Given the description of an element on the screen output the (x, y) to click on. 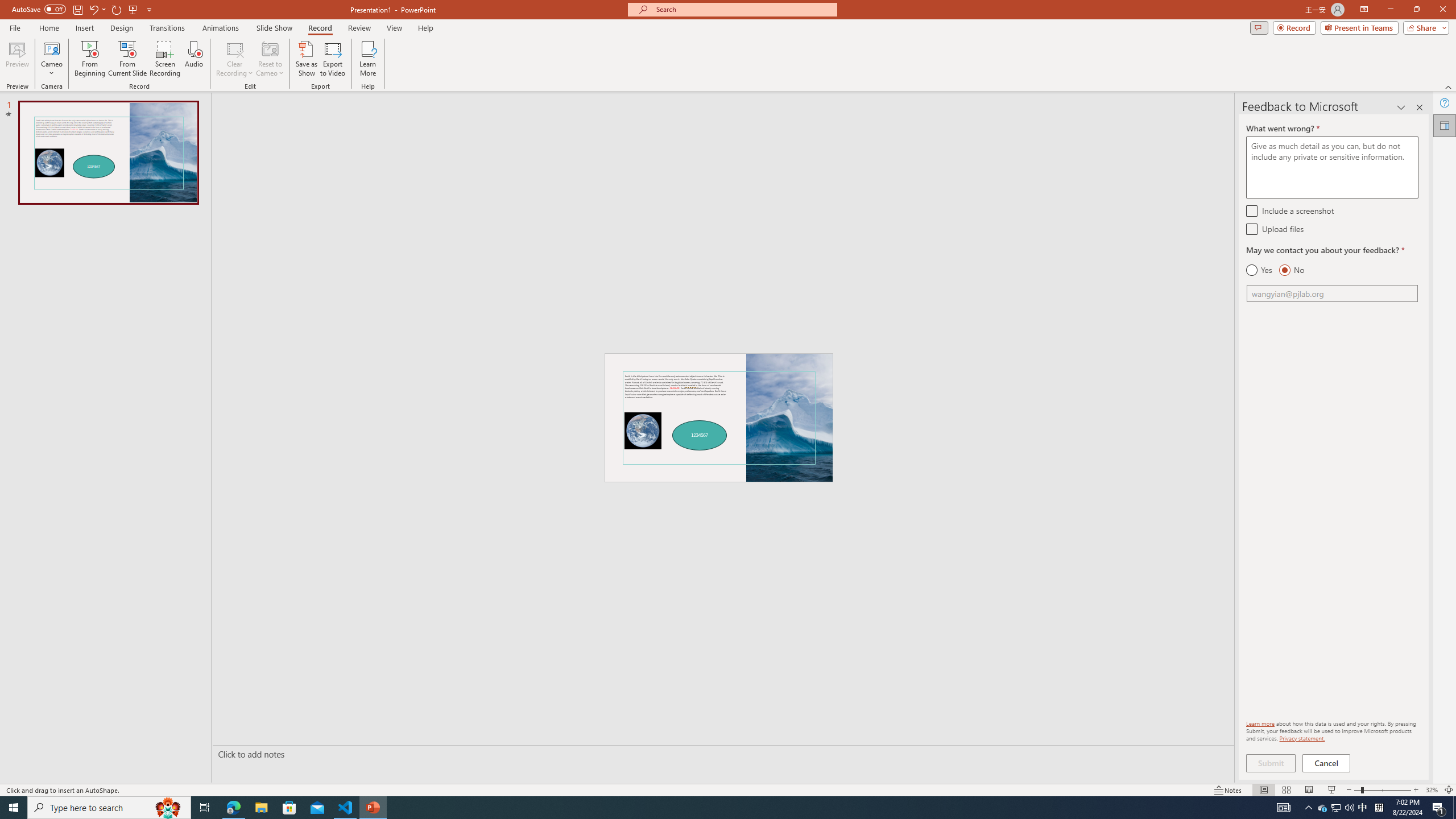
Learn more (1260, 723)
Include a screenshot (1251, 210)
